Given the description of an element on the screen output the (x, y) to click on. 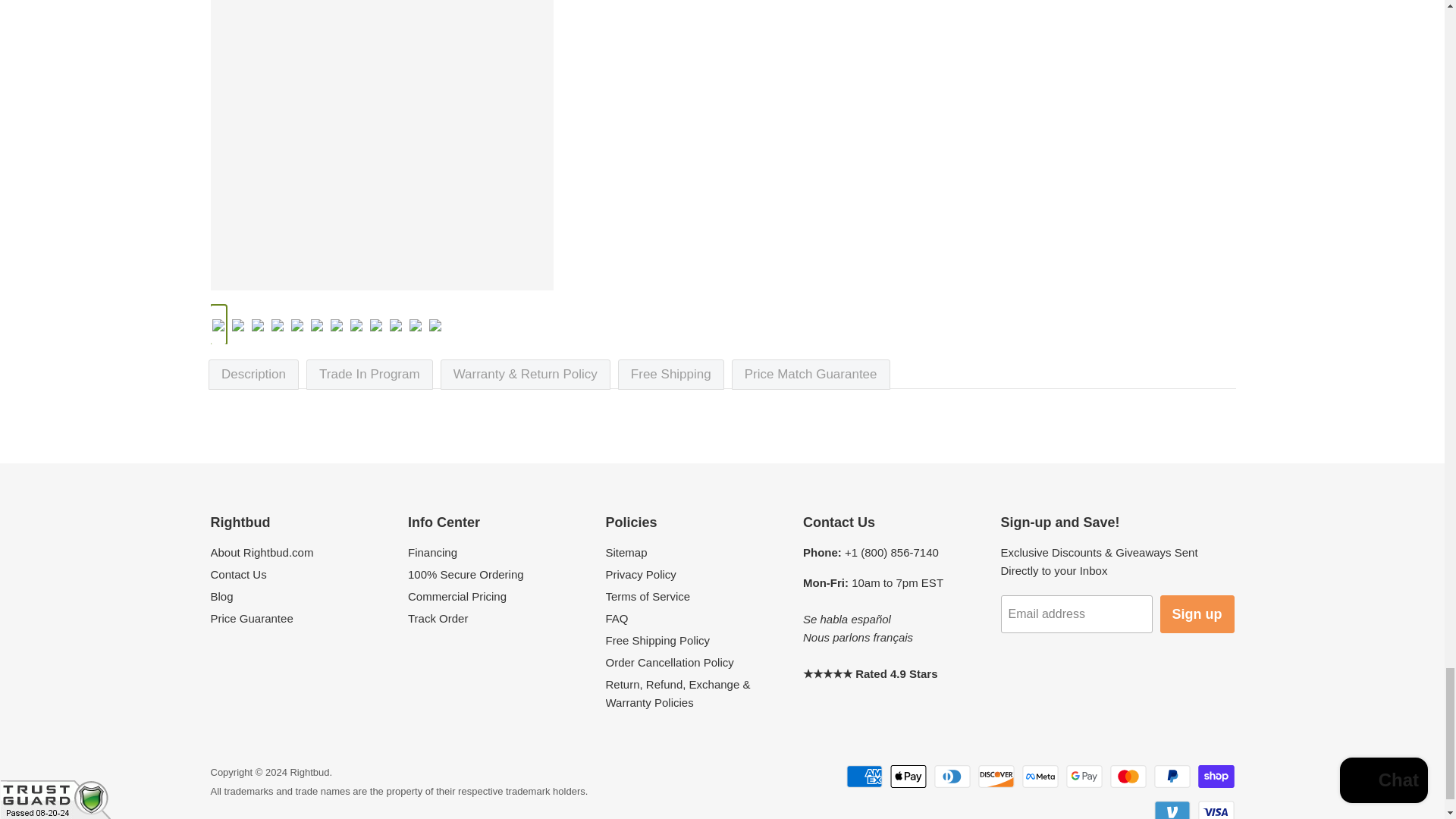
Mastercard (1128, 775)
Diners Club (952, 775)
Google Pay (1083, 775)
Meta Pay (1040, 775)
Discover (996, 775)
Shop Pay (1216, 775)
American Express (863, 775)
PayPal (1172, 775)
Apple Pay (907, 775)
